Given the description of an element on the screen output the (x, y) to click on. 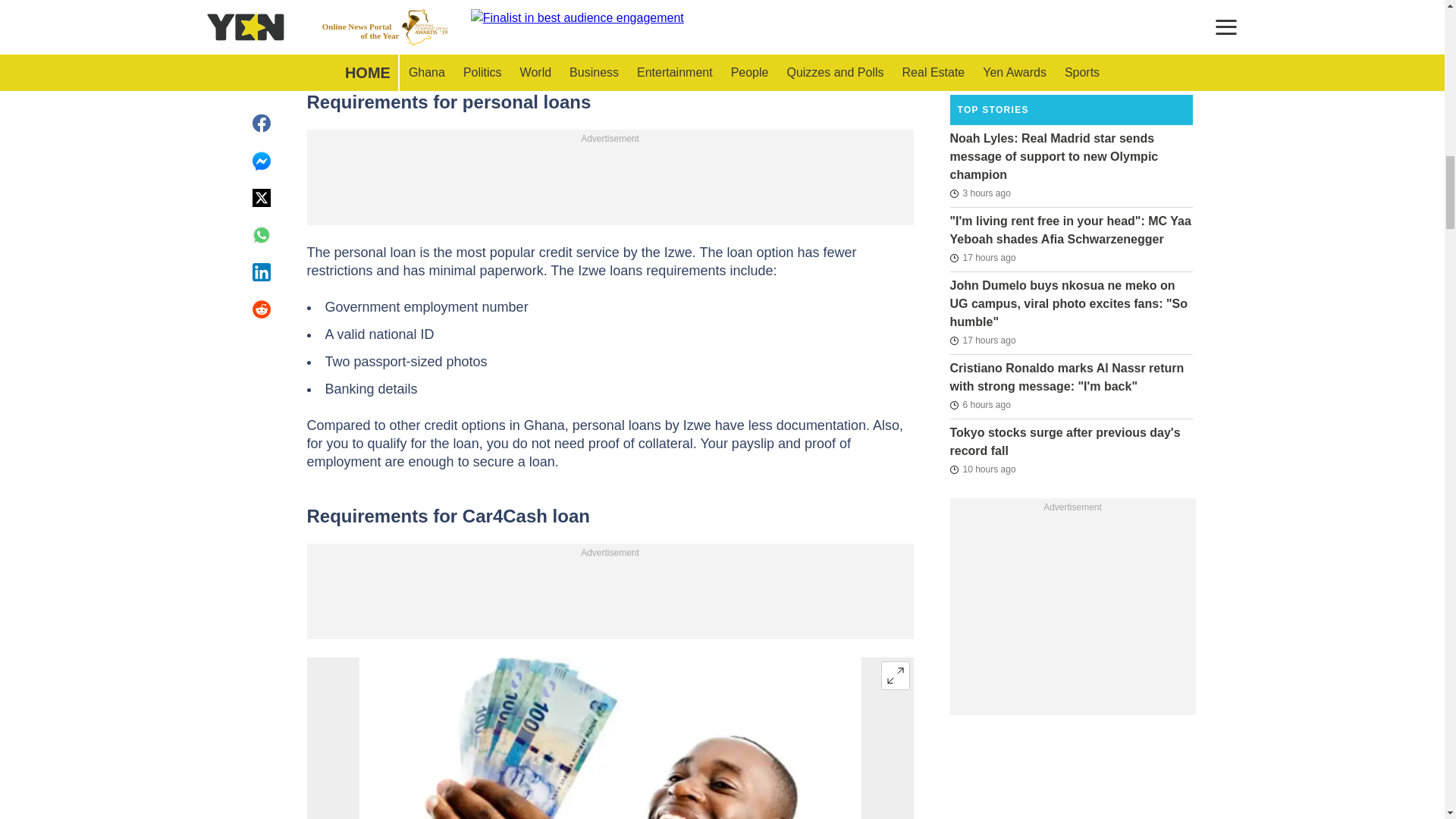
2021-12-21T11:32:41Z (979, 65)
Expand image (895, 675)
2024-08-06T09:48:53Z (979, 193)
Izwe loans Ghana: services, requirements, how to apply (609, 738)
